Given the description of an element on the screen output the (x, y) to click on. 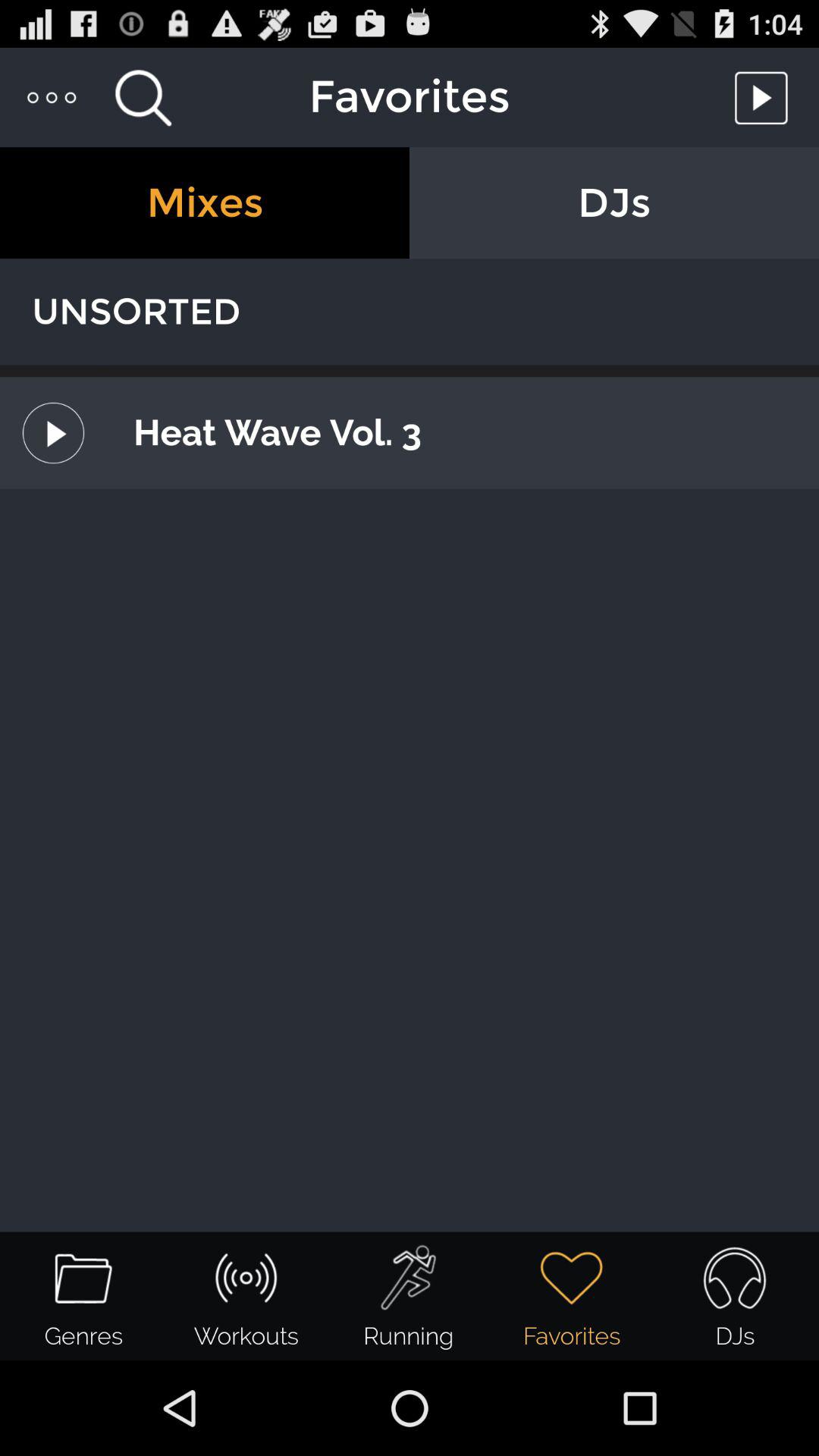
toggle menu (52, 97)
